Given the description of an element on the screen output the (x, y) to click on. 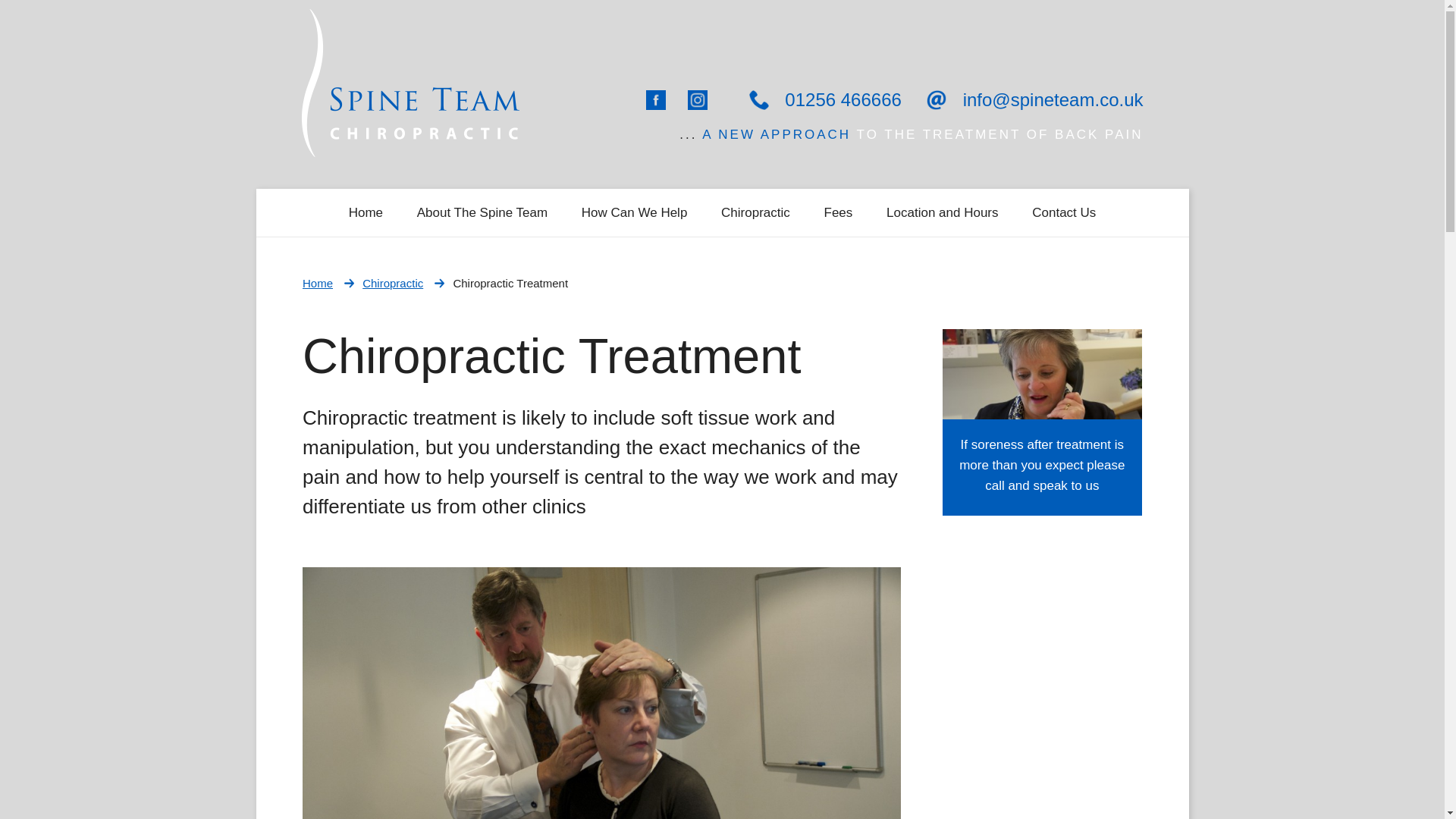
Home (365, 212)
Home (317, 282)
How Can We Help (634, 212)
Fees (838, 212)
Go to Chiropractic. (392, 282)
01256 466666 (824, 97)
Go to The Spine Team. (317, 282)
Chiropractic (755, 212)
About The Spine Team (481, 212)
Contact Us (1063, 212)
